Given the description of an element on the screen output the (x, y) to click on. 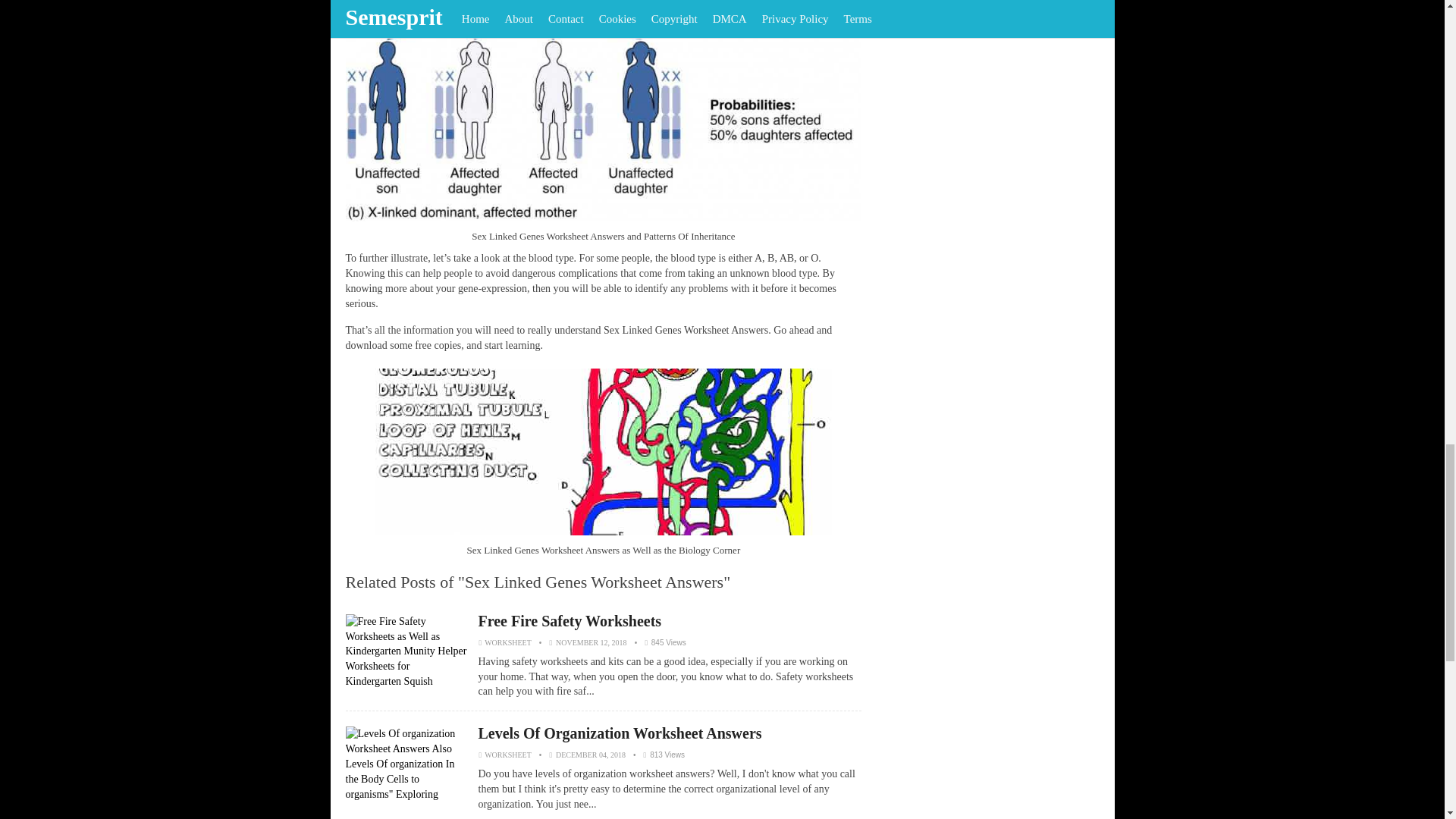
Free Fire Safety Worksheets (569, 620)
Sex Linked Genes Worksheet Answers 2 (603, 110)
WORKSHEET (507, 642)
Levels Of Organization Worksheet Answers (619, 733)
Sex Linked Genes Worksheet Answers 3 (603, 451)
WORKSHEET (507, 755)
